Given the description of an element on the screen output the (x, y) to click on. 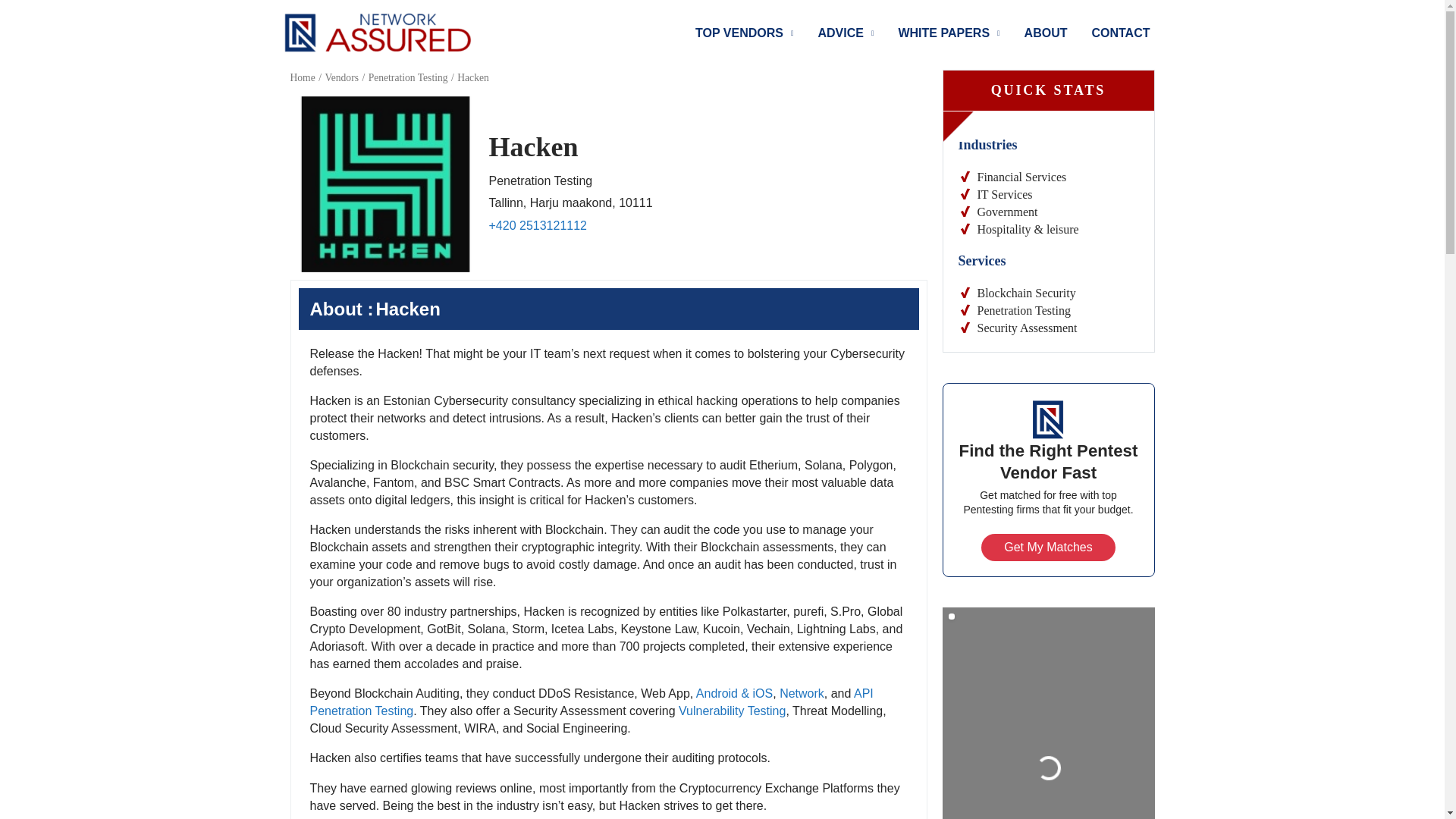
ADVICE (845, 33)
View: Hacken (532, 146)
TOP VENDORS (743, 33)
Hacken (385, 183)
